Given the description of an element on the screen output the (x, y) to click on. 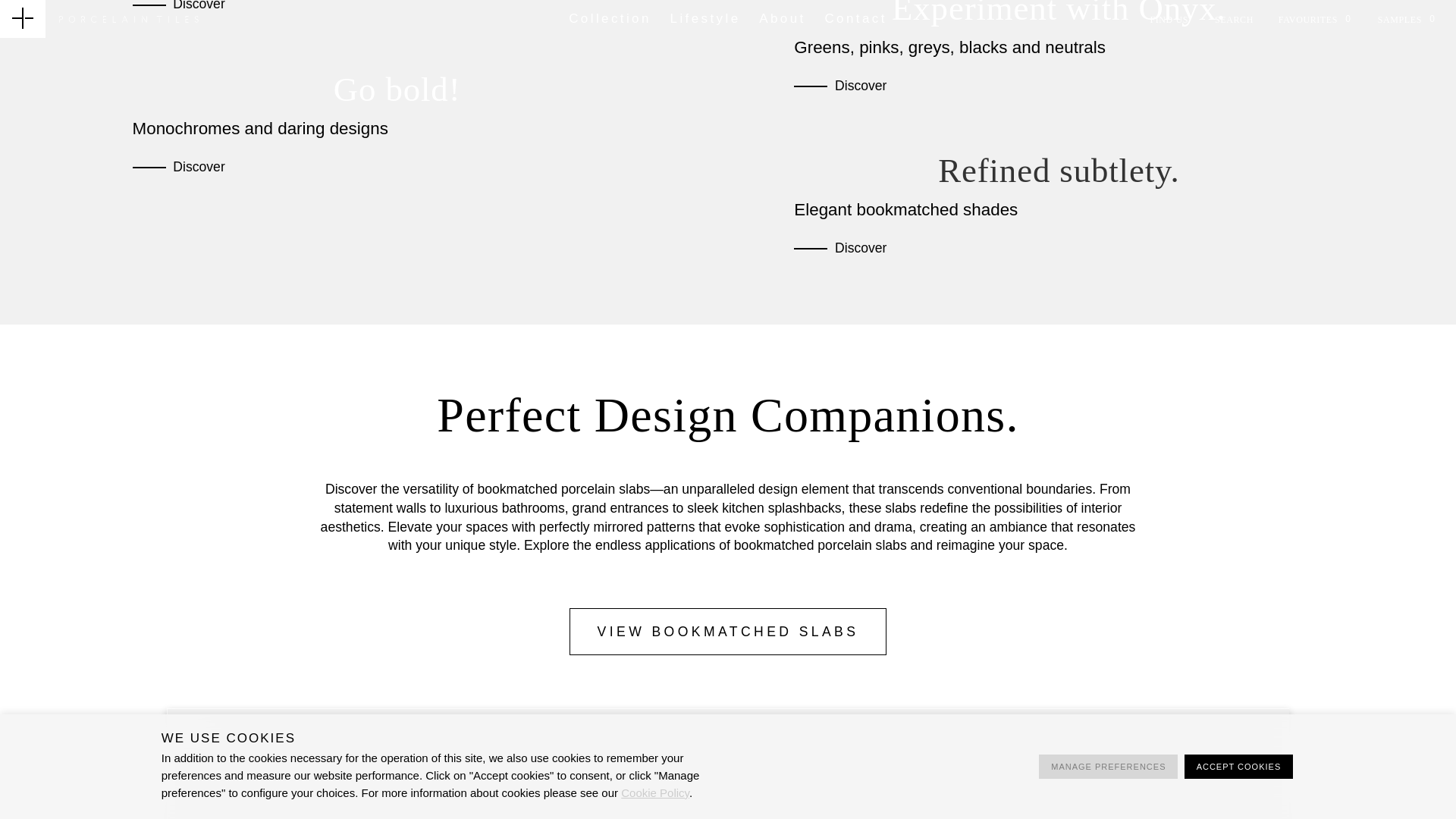
Discover (860, 85)
VIEW BOOKMATCHED SLABS (727, 631)
Discover (860, 248)
Discover (199, 6)
Discover (199, 167)
